Given the description of an element on the screen output the (x, y) to click on. 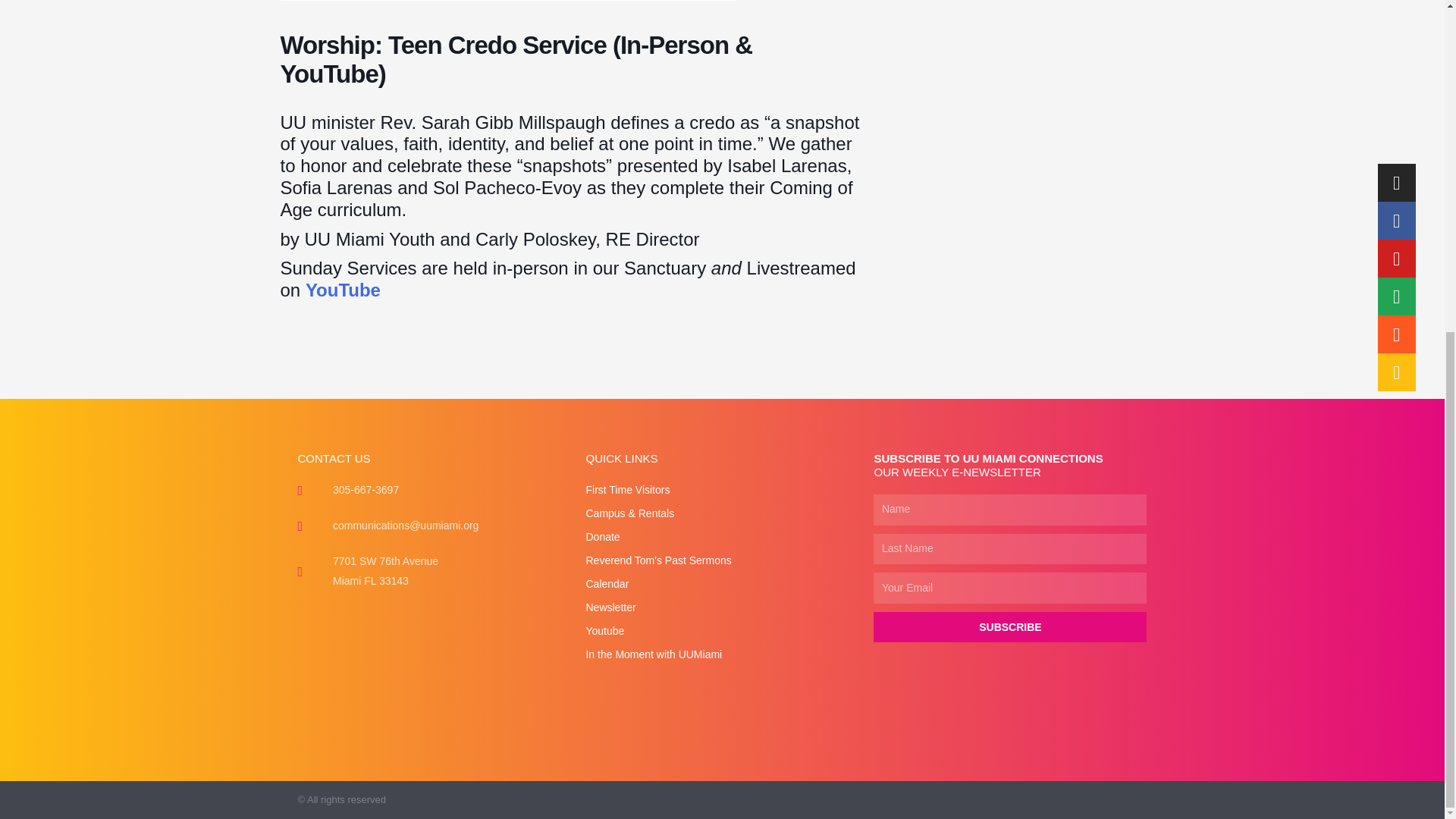
YouTube (342, 290)
